Given the description of an element on the screen output the (x, y) to click on. 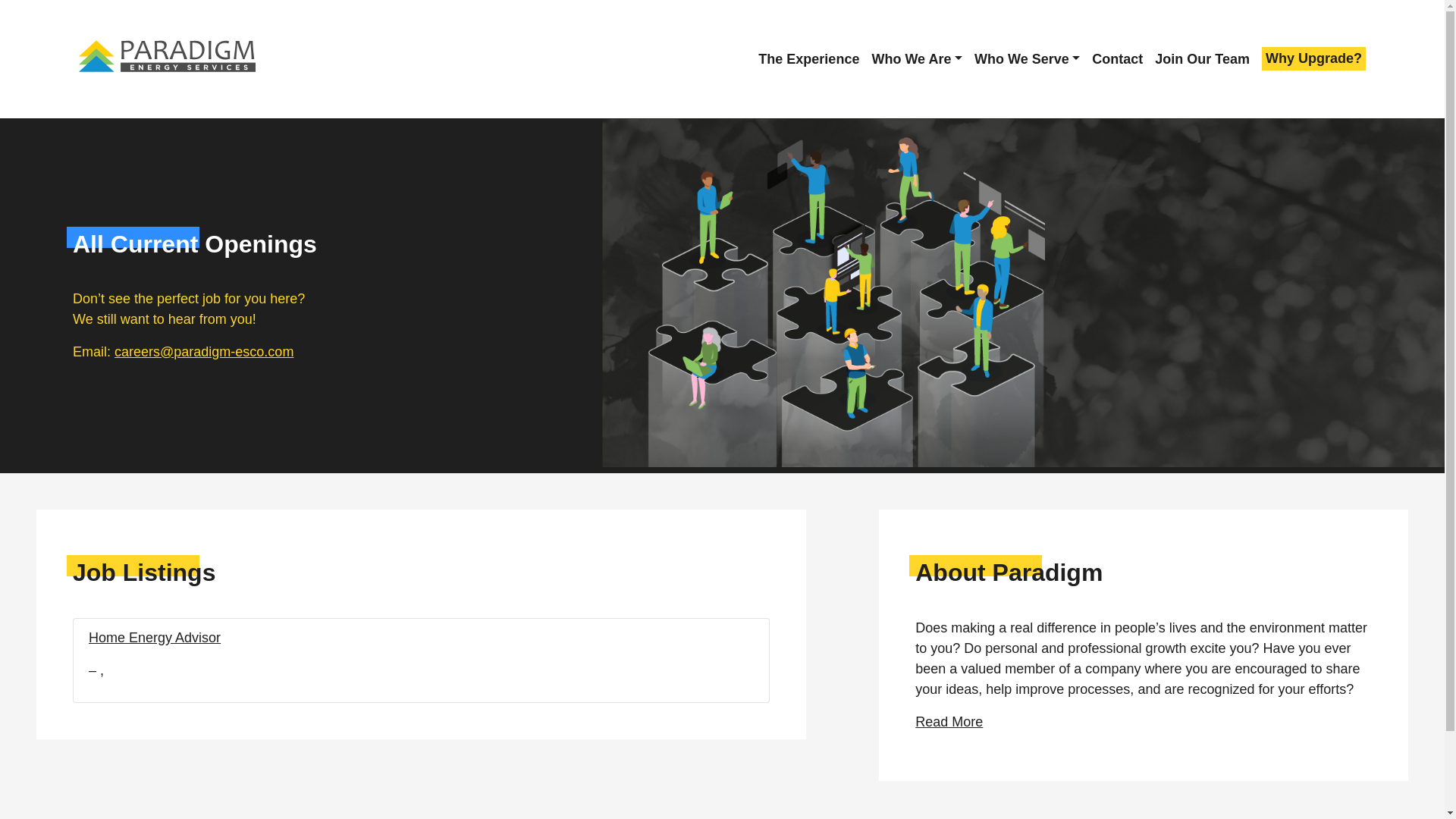
Why Upgrade? (1313, 58)
The Experience (808, 59)
Who We Serve (1027, 59)
Contact (1117, 59)
Who We Are (916, 59)
Join Our Team (1201, 59)
The Experience (808, 59)
Home Energy Advisor (154, 637)
Join Our Team (1201, 59)
Why Upgrade? (1313, 58)
Contact (1117, 59)
Who We Are (916, 59)
Who We Serve (1027, 59)
Read More (948, 721)
